Given the description of an element on the screen output the (x, y) to click on. 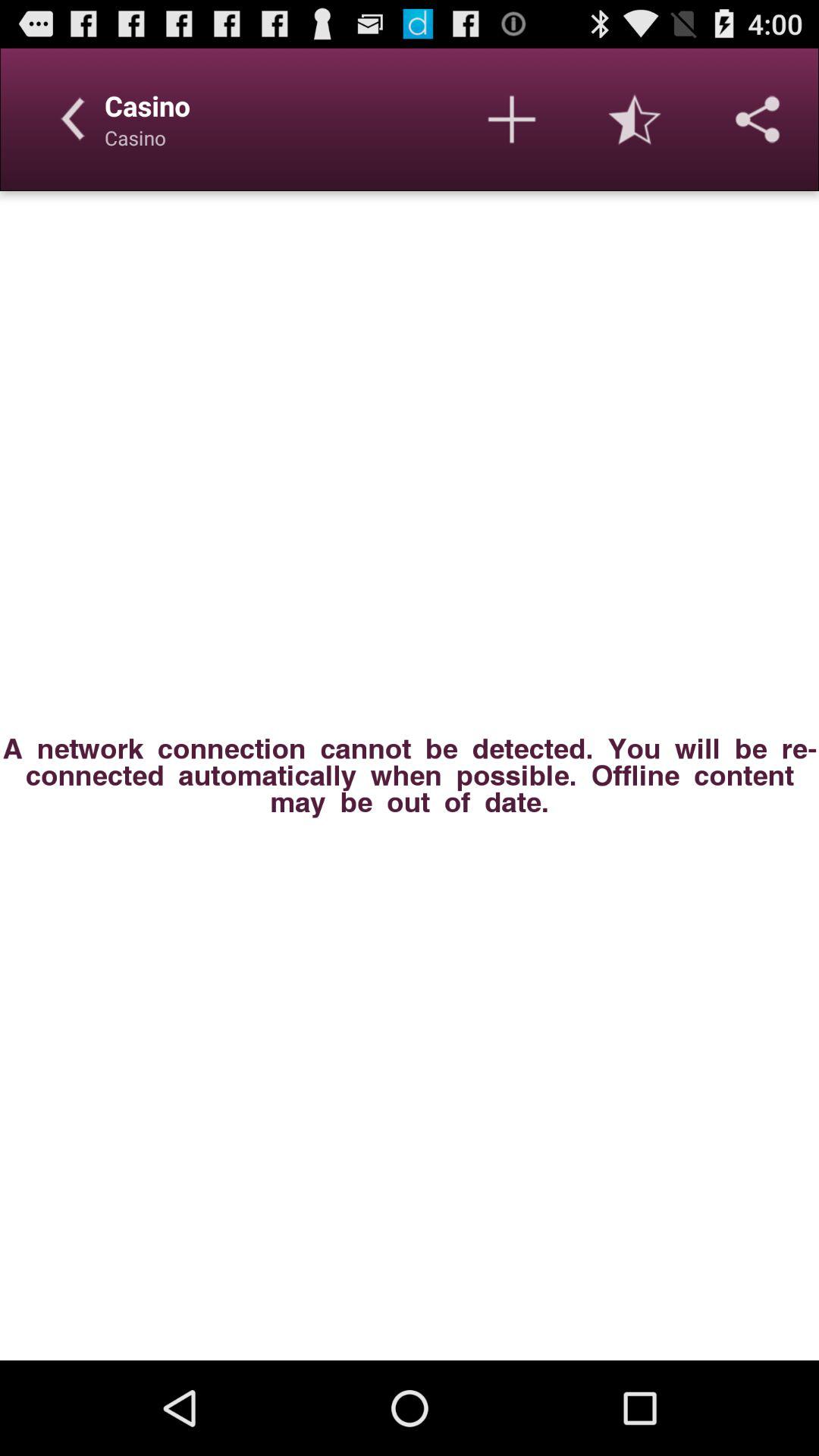
click item above a network connection (634, 119)
